Given the description of an element on the screen output the (x, y) to click on. 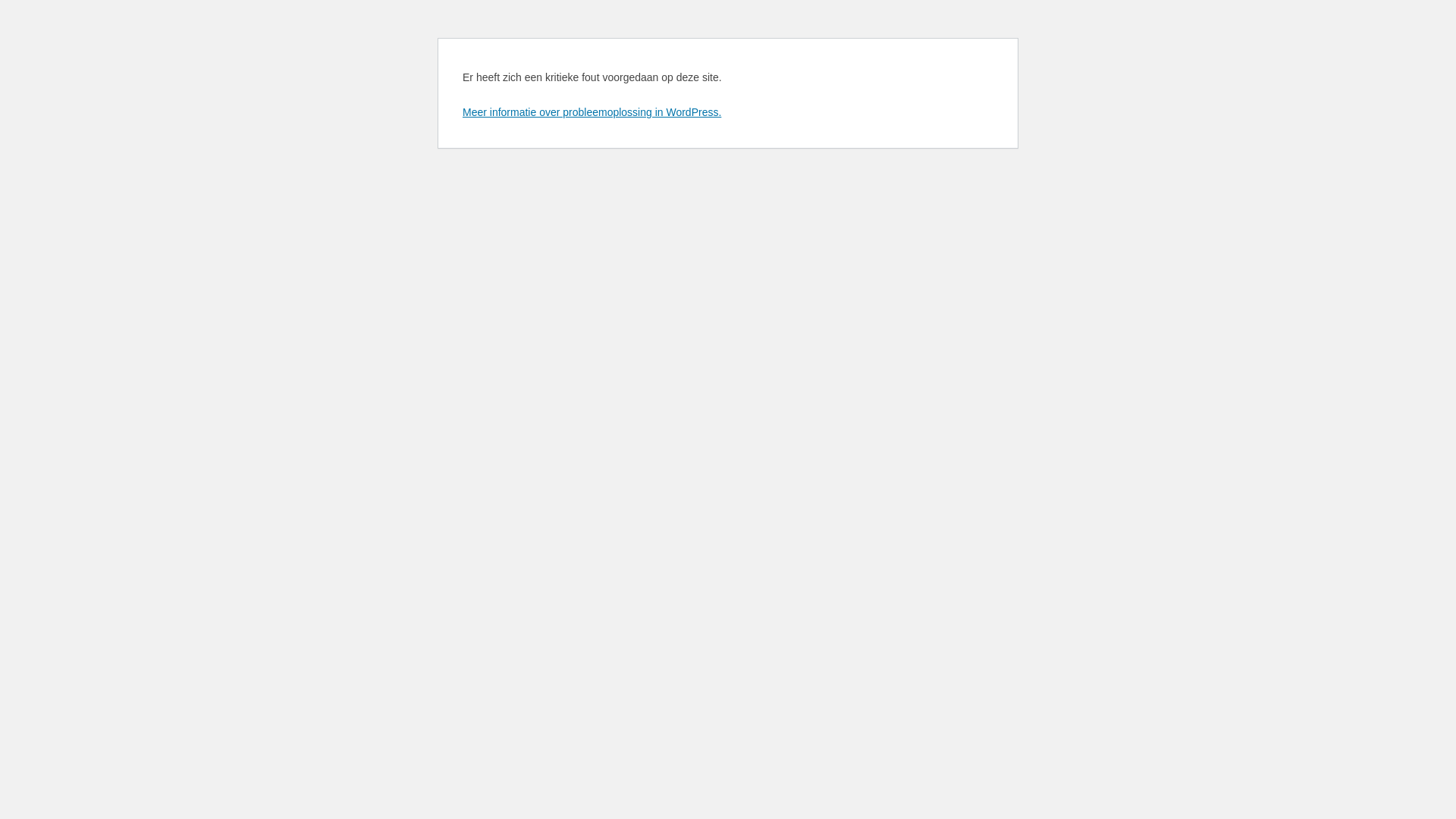
Meer informatie over probleemoplossing in WordPress. Element type: text (591, 112)
